Given the description of an element on the screen output the (x, y) to click on. 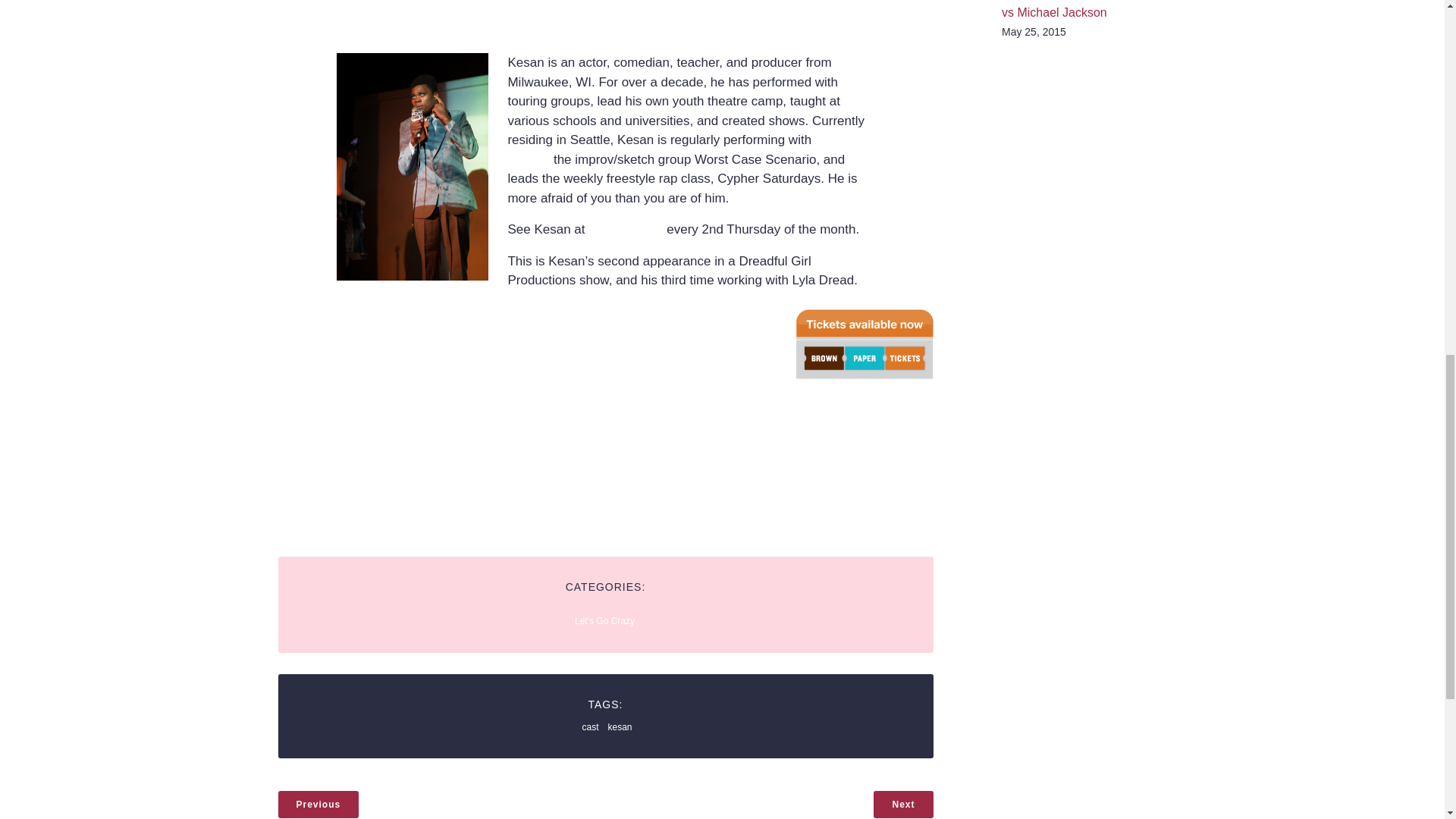
kesan (619, 726)
cast (589, 726)
Next (903, 804)
Let's Go Crazy (604, 620)
CSz (853, 82)
Previous (318, 804)
CSz Seattle (673, 149)
Cast Of One (625, 228)
Burlesque Battle Royale: Prince vs Michael Jackson (1087, 9)
